Given the description of an element on the screen output the (x, y) to click on. 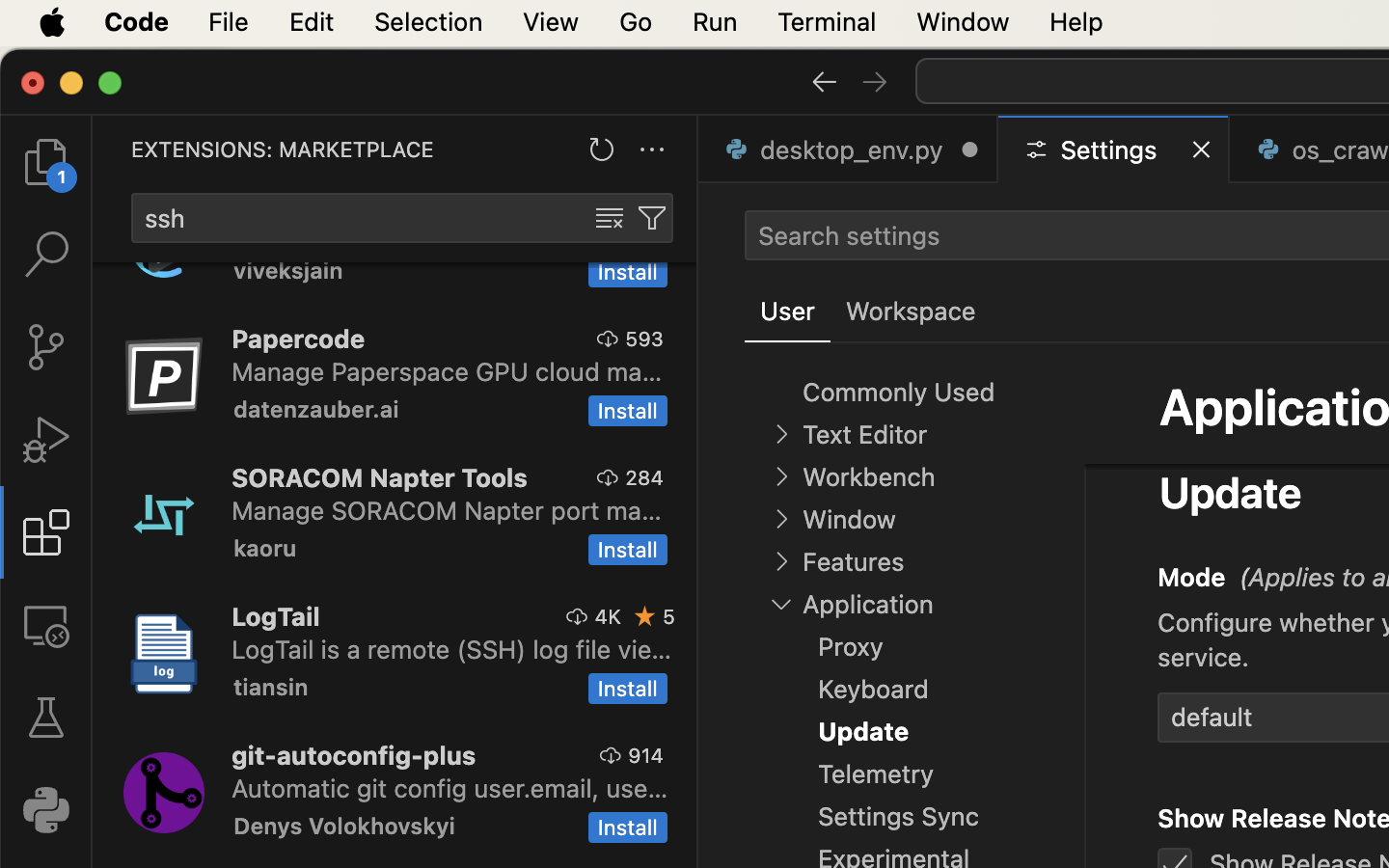
Telemetry Element type: AXStaticText (875, 773)
4K Element type: AXStaticText (607, 615)
Text Editor Element type: AXStaticText (864, 434)
Denys Volokhovskyi Element type: AXStaticText (344, 825)
Search settings Element type: AXStaticText (849, 235)
